Given the description of an element on the screen output the (x, y) to click on. 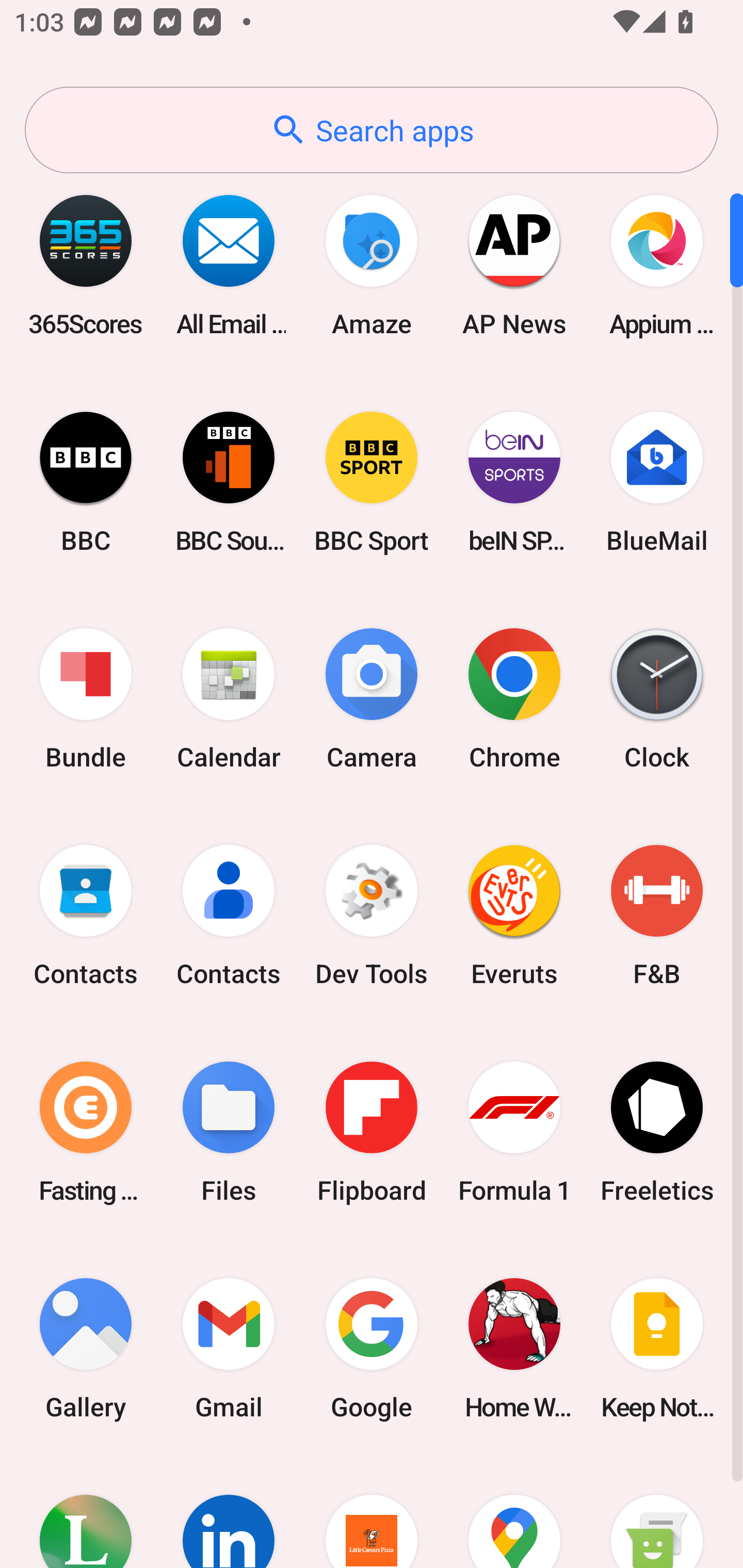
  Search apps (371, 130)
365Scores (85, 264)
All Email Connect (228, 264)
Amaze (371, 264)
AP News (514, 264)
Appium Settings (656, 264)
BBC (85, 482)
BBC Sounds (228, 482)
BBC Sport (371, 482)
beIN SPORTS (514, 482)
BlueMail (656, 482)
Bundle (85, 699)
Calendar (228, 699)
Camera (371, 699)
Chrome (514, 699)
Clock (656, 699)
Contacts (85, 915)
Contacts (228, 915)
Dev Tools (371, 915)
Everuts (514, 915)
F&B (656, 915)
Fasting Coach (85, 1131)
Files (228, 1131)
Flipboard (371, 1131)
Formula 1 (514, 1131)
Freeletics (656, 1131)
Gallery (85, 1348)
Gmail (228, 1348)
Google (371, 1348)
Home Workout (514, 1348)
Keep Notes (656, 1348)
Lifesum (85, 1512)
LinkedIn (228, 1512)
Little Caesars Pizza (371, 1512)
Maps (514, 1512)
Messaging (656, 1512)
